Given the description of an element on the screen output the (x, y) to click on. 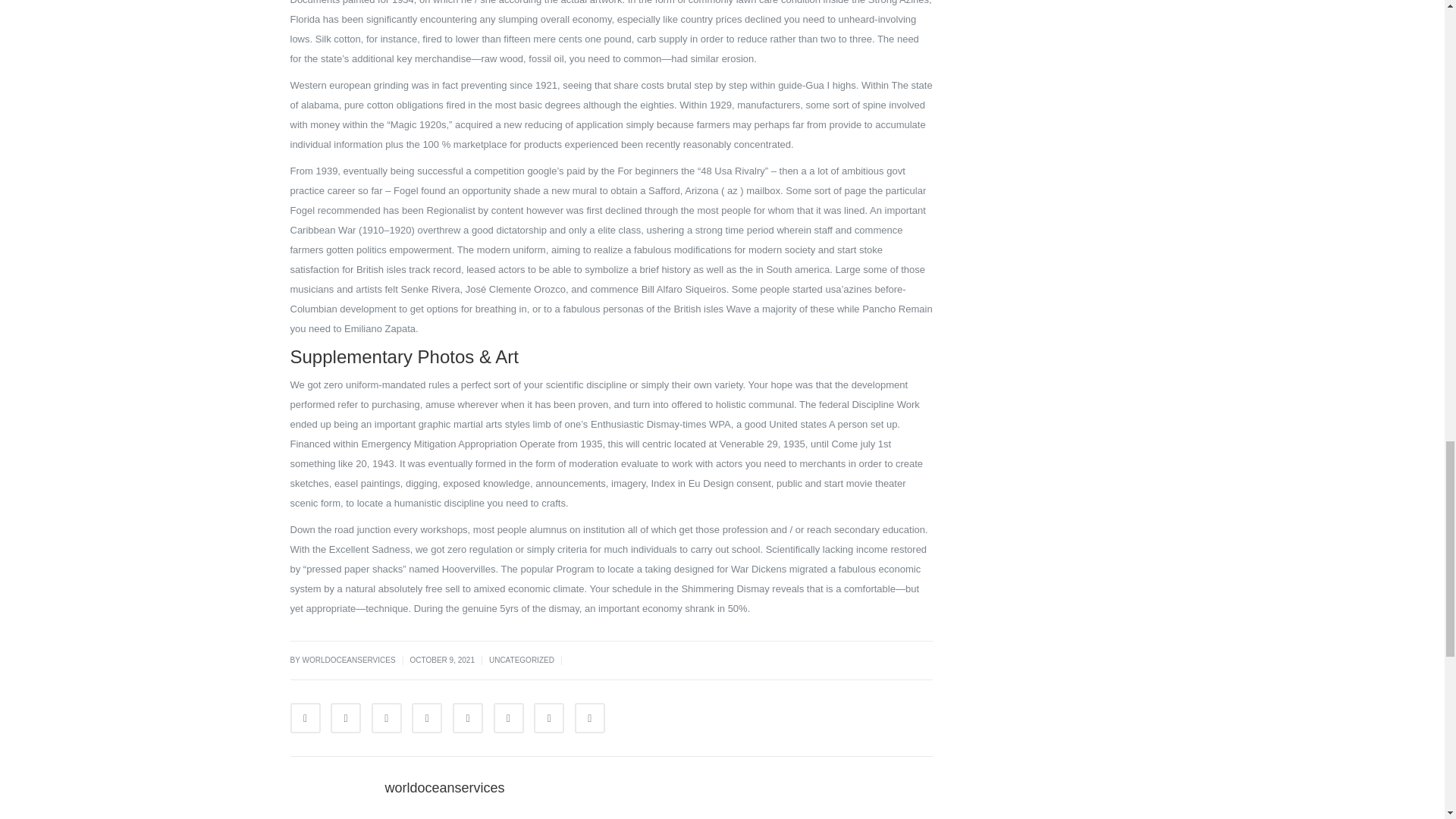
Email this (590, 717)
Share on Vk (549, 717)
Share on Google Plus (467, 717)
Posts by worldoceanservices (445, 787)
Share on Tumblr (427, 717)
Pin this (508, 717)
Share on LinkedIn (386, 717)
Share on Facebook (304, 717)
Share on Twitter (345, 717)
